Given the description of an element on the screen output the (x, y) to click on. 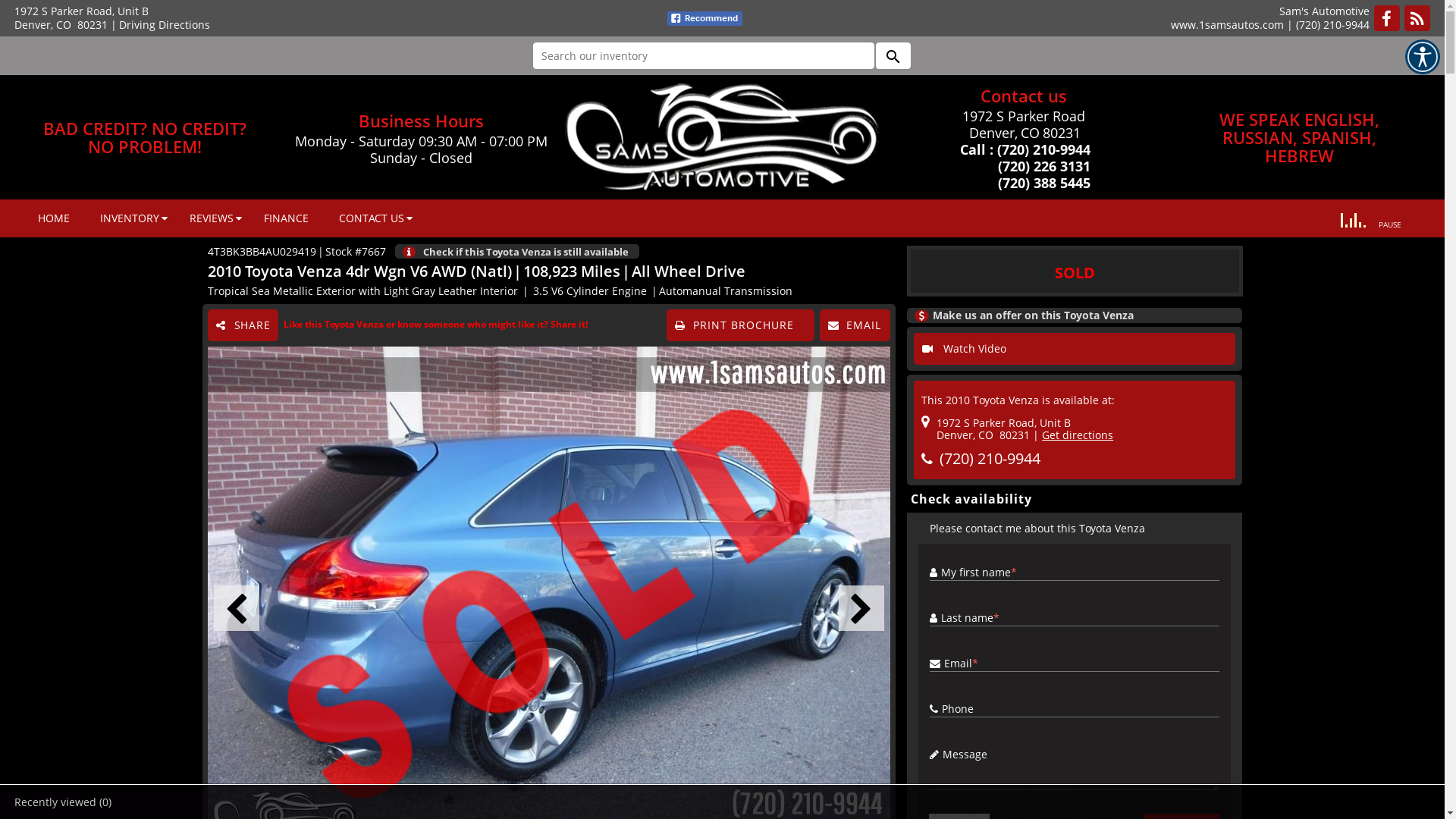
Call : (720) 210-9944 Element type: text (1023, 149)
Driving Directions Element type: text (164, 24)
Watch Video Element type: text (1074, 348)
www.1samsautos.com Element type: text (1226, 24)
HOME Element type: text (53, 218)
PRINT BROCHURE Element type: text (740, 325)
           (720) 226 3131 Element type: text (1023, 165)
           (720) 388 5445 Element type: text (1023, 182)
(720) 210-9944 Element type: text (1332, 24)
fb recommend Element type: hover (704, 18)
(720) 210-9944 Element type: text (989, 458)
EMAIL Element type: text (854, 325)
Check if this Toyota Venza is still available Element type: text (529, 251)
CONTACT US Element type: text (371, 218)
SHARE Element type: text (242, 325)
INVENTORY Element type: text (129, 218)
Sam's Automotive, Denver, CO Element type: hover (722, 137)
BAD CREDIT? NO CREDIT?
NO PROBLEM! Element type: text (144, 136)
REVIEWS Element type: text (211, 218)
Get directions Element type: text (1077, 434)
Search our inventory Element type: hover (702, 55)
FINANCE Element type: text (285, 218)
Make us an offer on this Toyota Venza Element type: text (1074, 315)
search Element type: text (892, 55)
